Given the description of an element on the screen output the (x, y) to click on. 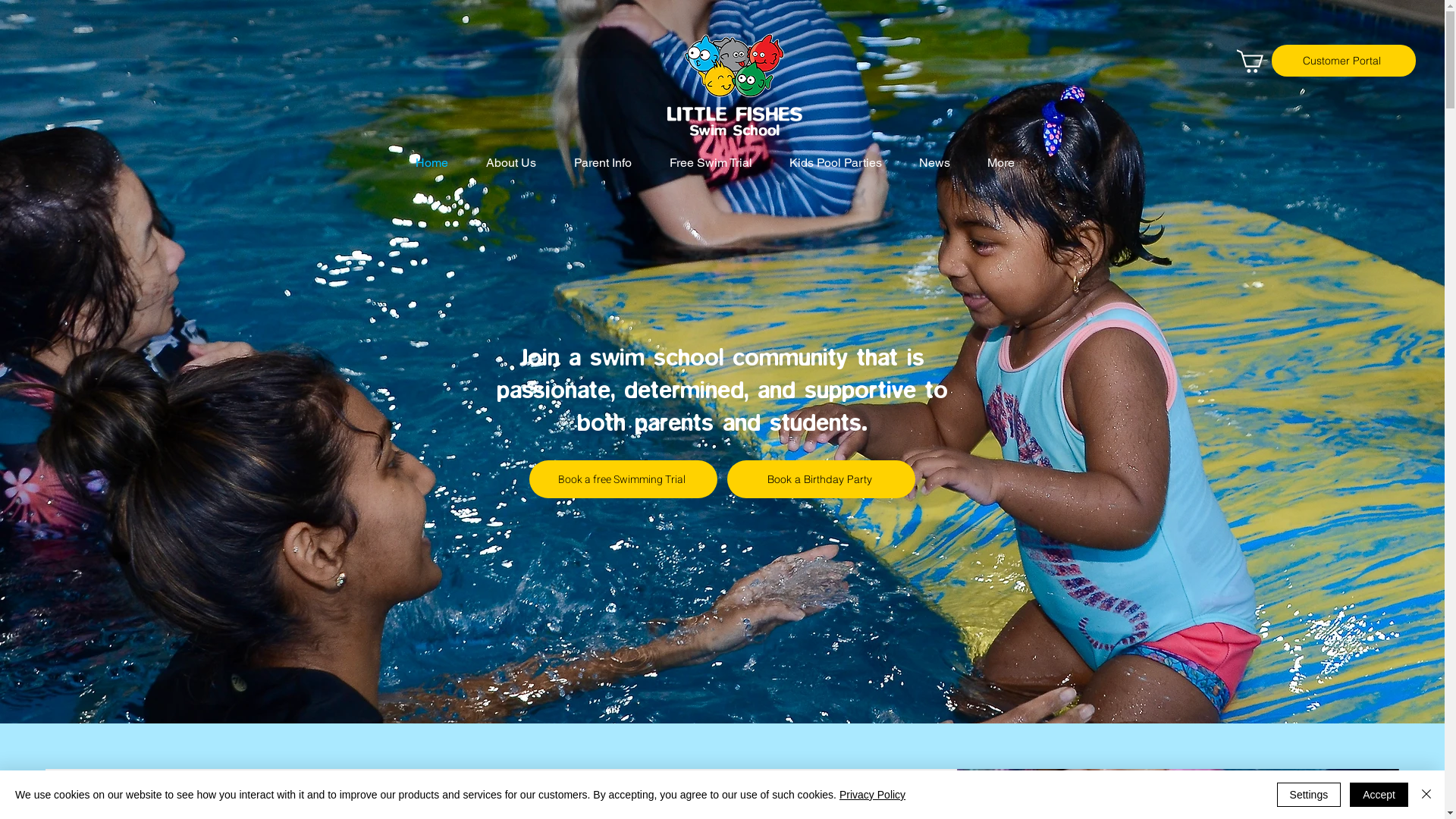
News Element type: text (940, 162)
Kids Pool Parties Element type: text (842, 162)
Settings Element type: text (1309, 794)
Privacy Policy Element type: text (872, 794)
Book a free Swimming Trial Element type: text (618, 479)
Free Swim Trial Element type: text (718, 162)
Home Element type: text (438, 162)
About Us Element type: text (518, 162)
Book a Birthday Party Element type: text (825, 479)
Parent Info Element type: text (610, 162)
Customer Portal Element type: text (1343, 60)
Accept Element type: text (1378, 794)
